Given the description of an element on the screen output the (x, y) to click on. 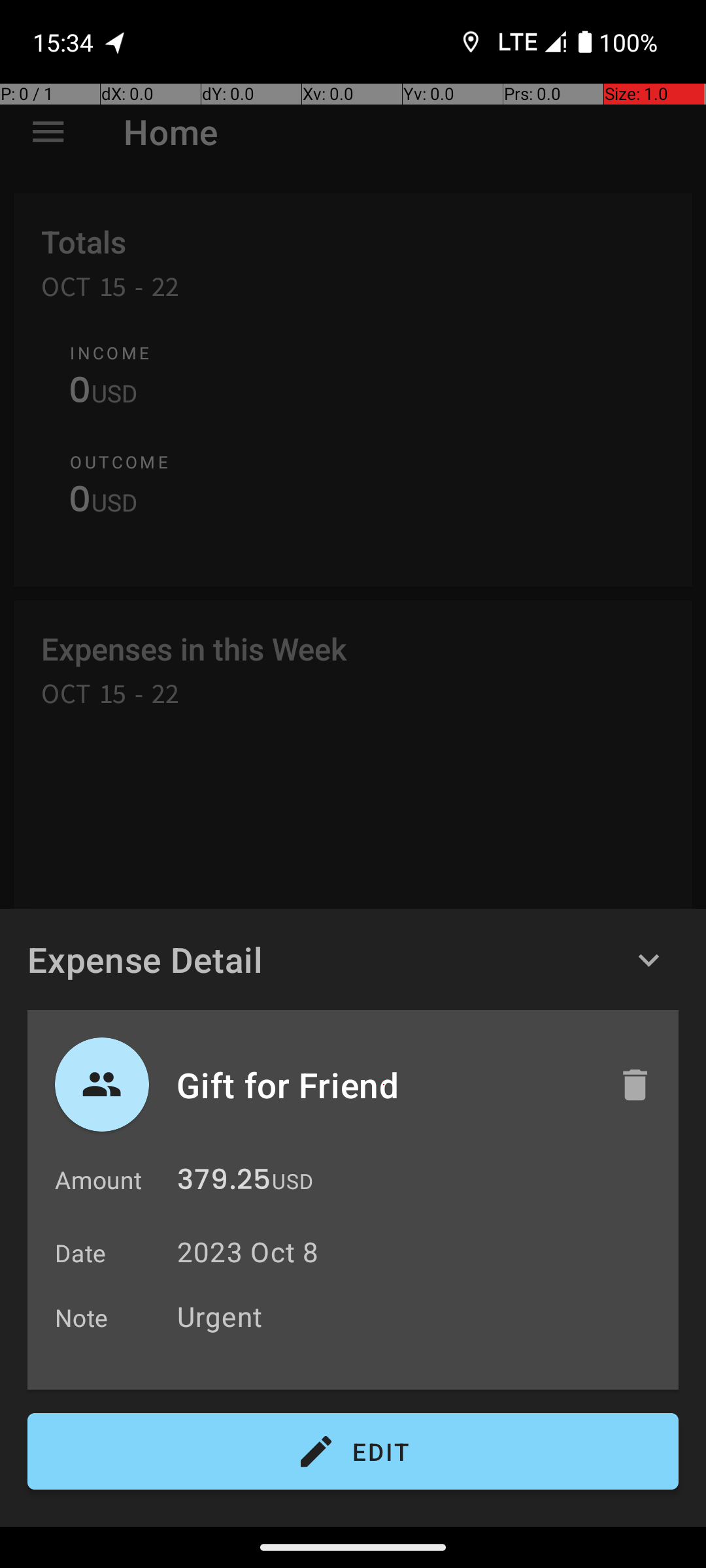
379.25 Element type: android.widget.TextView (223, 1182)
